Given the description of an element on the screen output the (x, y) to click on. 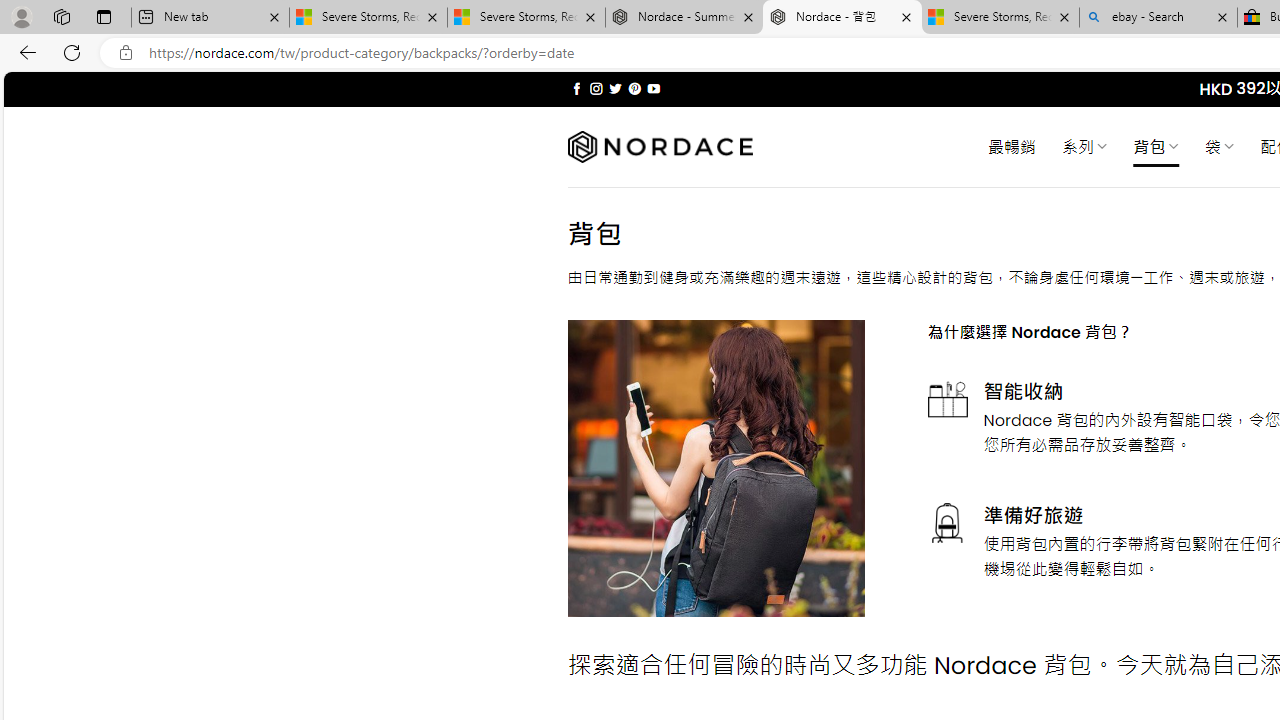
Close tab (1222, 16)
Nordace (659, 147)
Back (24, 52)
Workspaces (61, 16)
Nordace - Summer Adventures 2024 (683, 17)
Refresh (72, 52)
Follow on YouTube (653, 88)
